Given the description of an element on the screen output the (x, y) to click on. 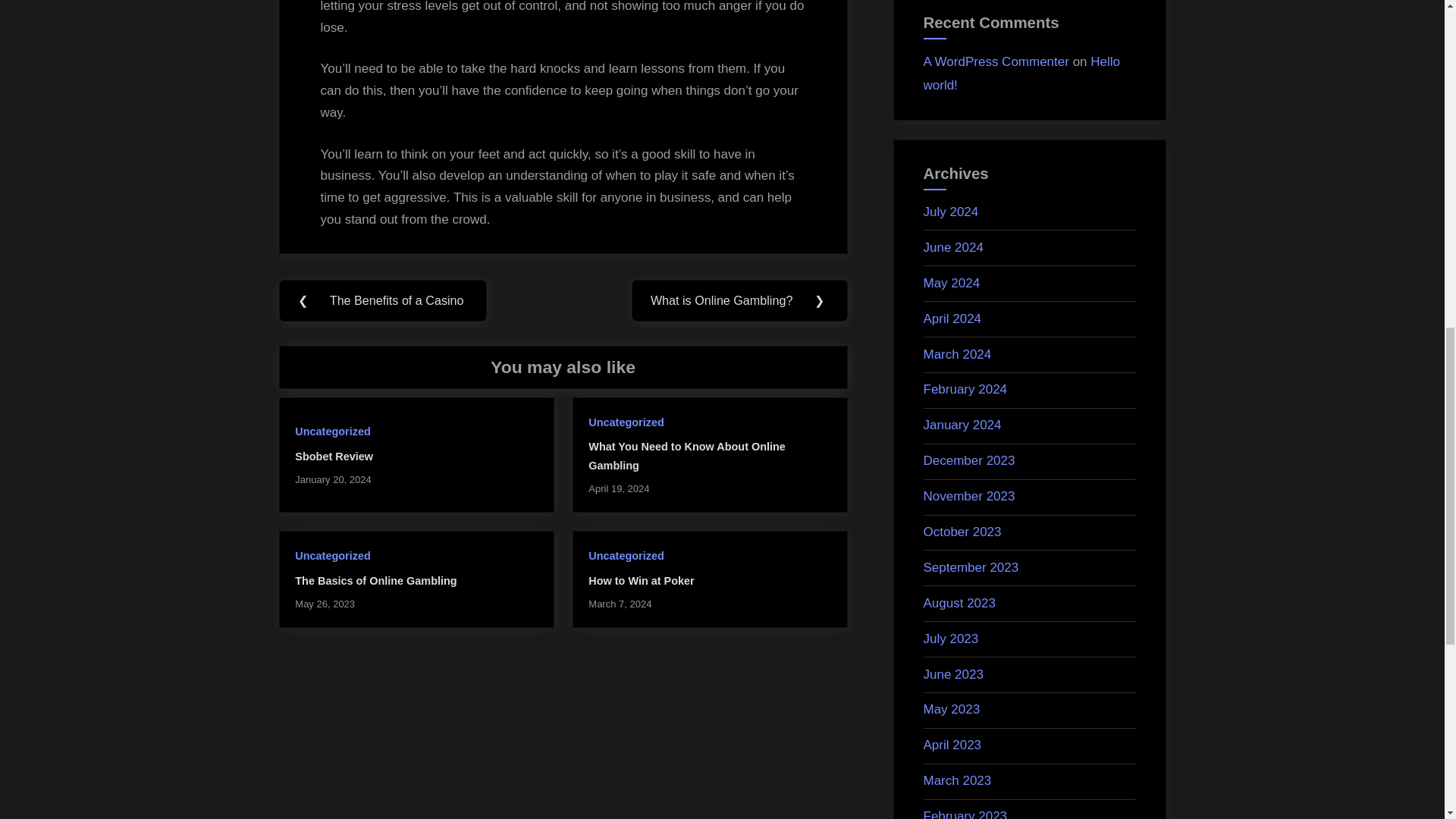
May 2024 (951, 283)
Uncategorized (332, 431)
June 2023 (953, 674)
October 2023 (962, 531)
Sbobet Review (333, 456)
March 2024 (957, 354)
February 2024 (965, 389)
Hello world! (1022, 73)
May 2023 (951, 708)
June 2024 (953, 247)
August 2023 (959, 603)
April 2024 (952, 318)
How to Win at Poker (641, 580)
November 2023 (968, 495)
January 2024 (962, 424)
